Given the description of an element on the screen output the (x, y) to click on. 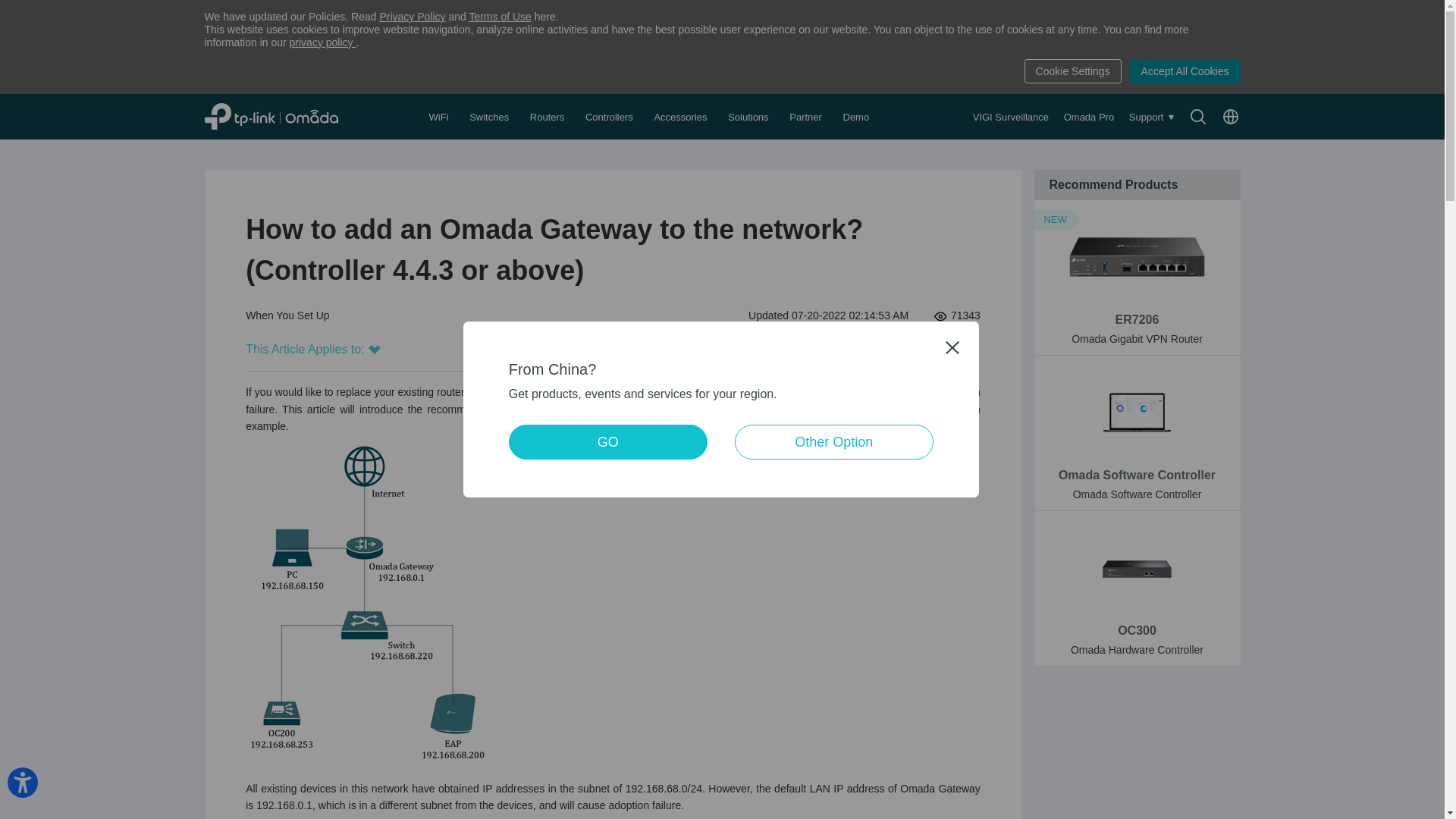
Choose location (1230, 116)
TP-Link, Reliably Smart (288, 116)
Terms of Use (499, 16)
Controllers (609, 116)
Solutions (749, 116)
Privacy Policy (411, 16)
Search icon (1198, 116)
Accept All Cookies (1184, 70)
Cookie Settings (1073, 70)
privacy policy (322, 42)
